Given the description of an element on the screen output the (x, y) to click on. 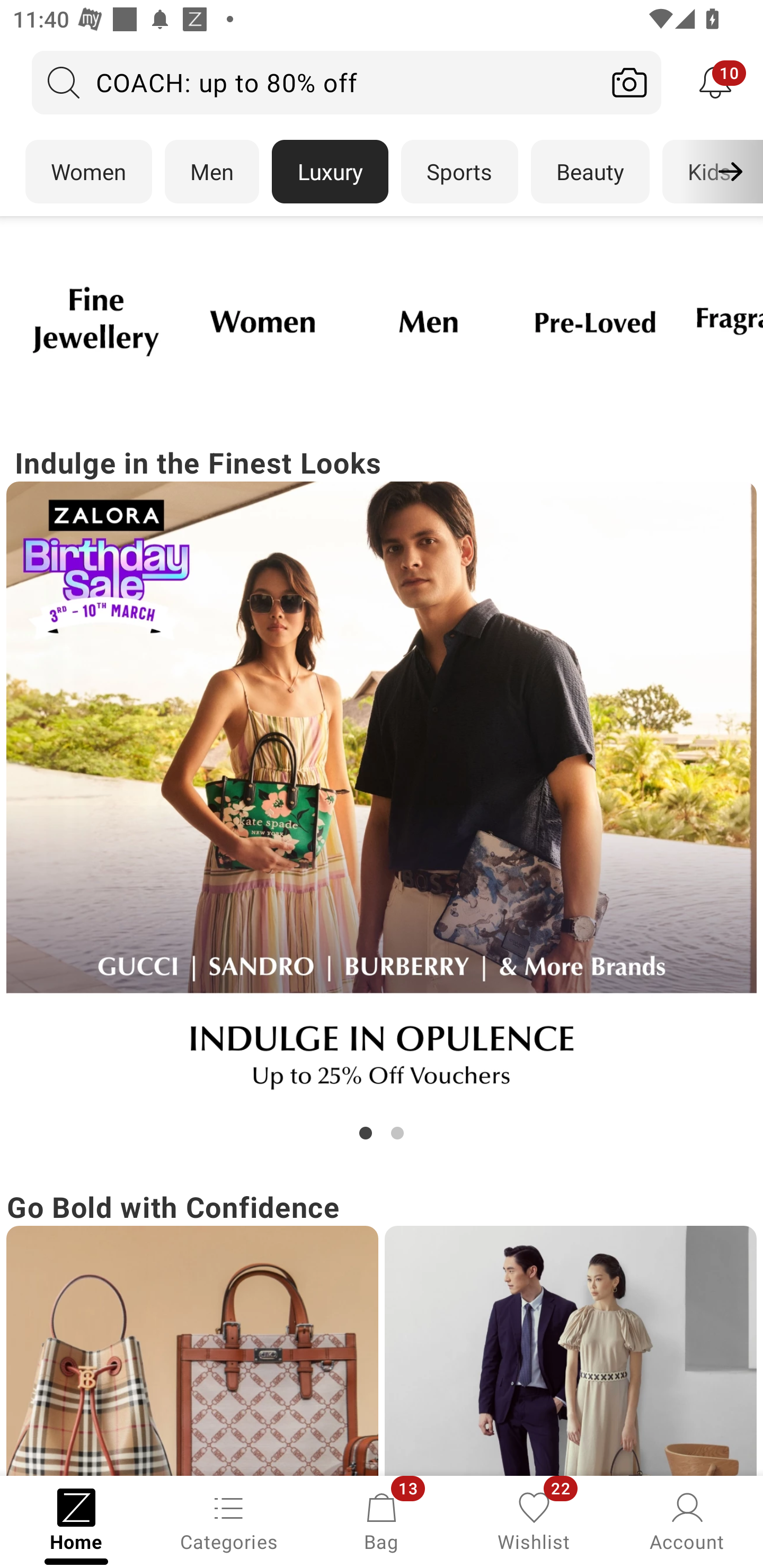
COACH: up to 80% off (314, 82)
Women (88, 171)
Men (211, 171)
Luxury (329, 171)
Sports (459, 171)
Beauty (590, 171)
Kids (709, 171)
Campaign banner (95, 321)
Campaign banner (261, 321)
Campaign banner (428, 321)
Campaign banner (594, 321)
 Indulge in the Finest Looks Campaign banner (381, 792)
Campaign banner (381, 797)
Campaign banner (192, 1350)
Campaign banner (570, 1350)
Categories (228, 1519)
Bag, 13 new notifications Bag (381, 1519)
Wishlist, 22 new notifications Wishlist (533, 1519)
Account (686, 1519)
